Given the description of an element on the screen output the (x, y) to click on. 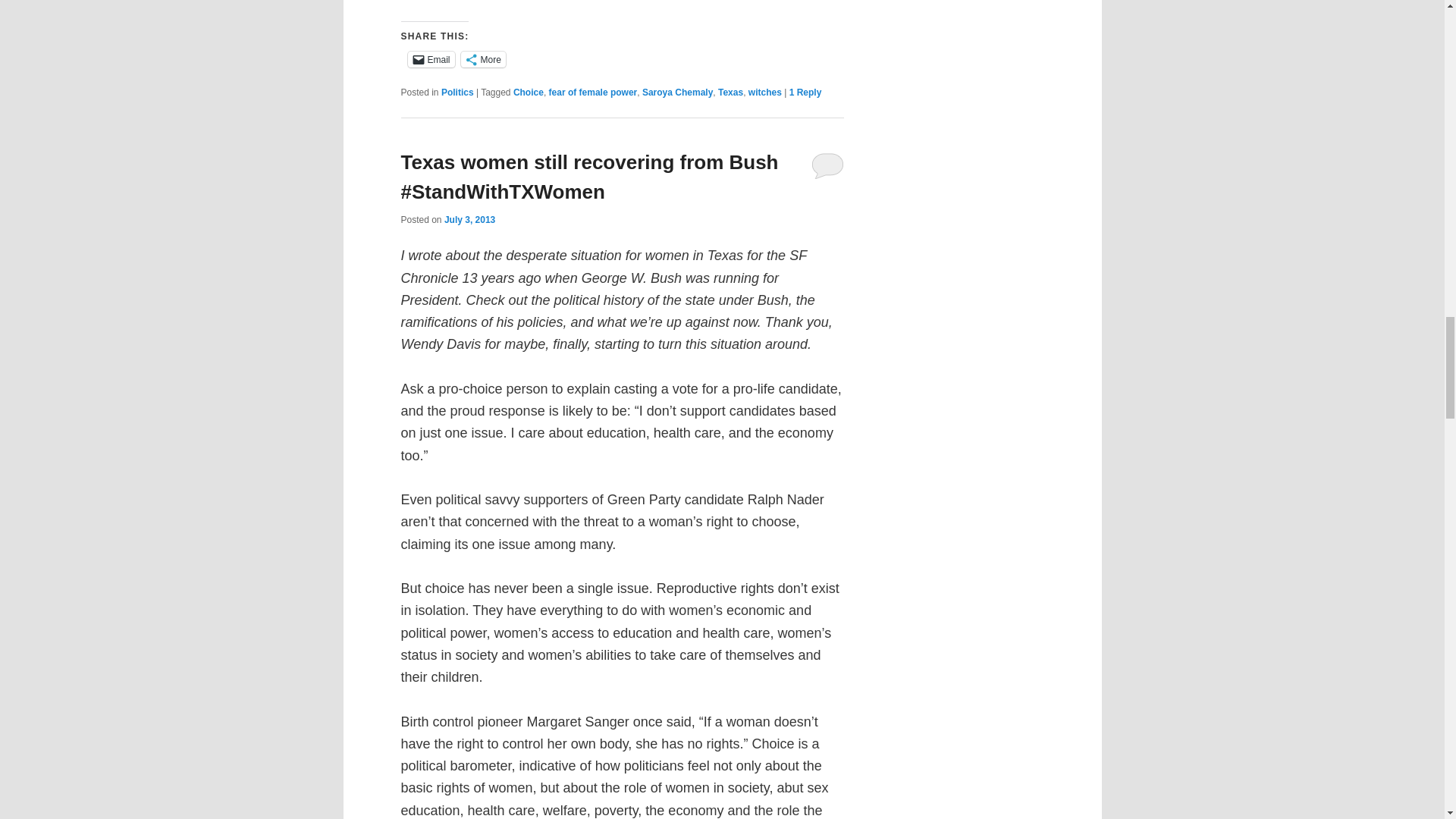
July 3, 2013 (469, 219)
fear of female power (592, 91)
1 Reply (805, 91)
Politics (457, 91)
Choice (528, 91)
Click to email a link to a friend (430, 59)
More (483, 59)
Saroya Chemaly (677, 91)
Email (430, 59)
witches (764, 91)
